Given the description of an element on the screen output the (x, y) to click on. 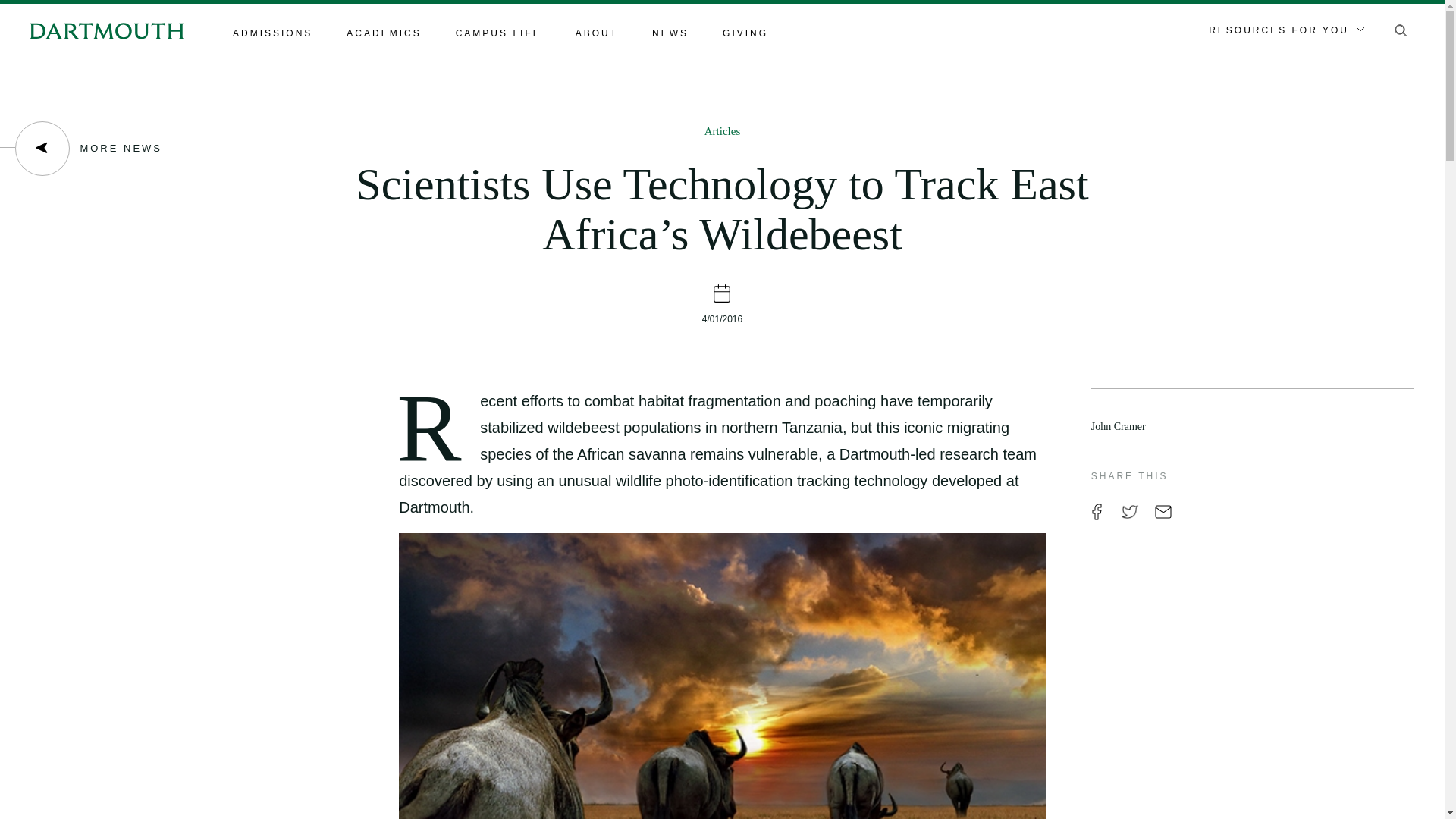
Home (106, 29)
Academics (383, 33)
ABOUT (596, 33)
Admissions (272, 33)
ADMISSIONS (272, 33)
CAMPUS LIFE (498, 33)
ACADEMICS (383, 33)
Home (106, 29)
